Given the description of an element on the screen output the (x, y) to click on. 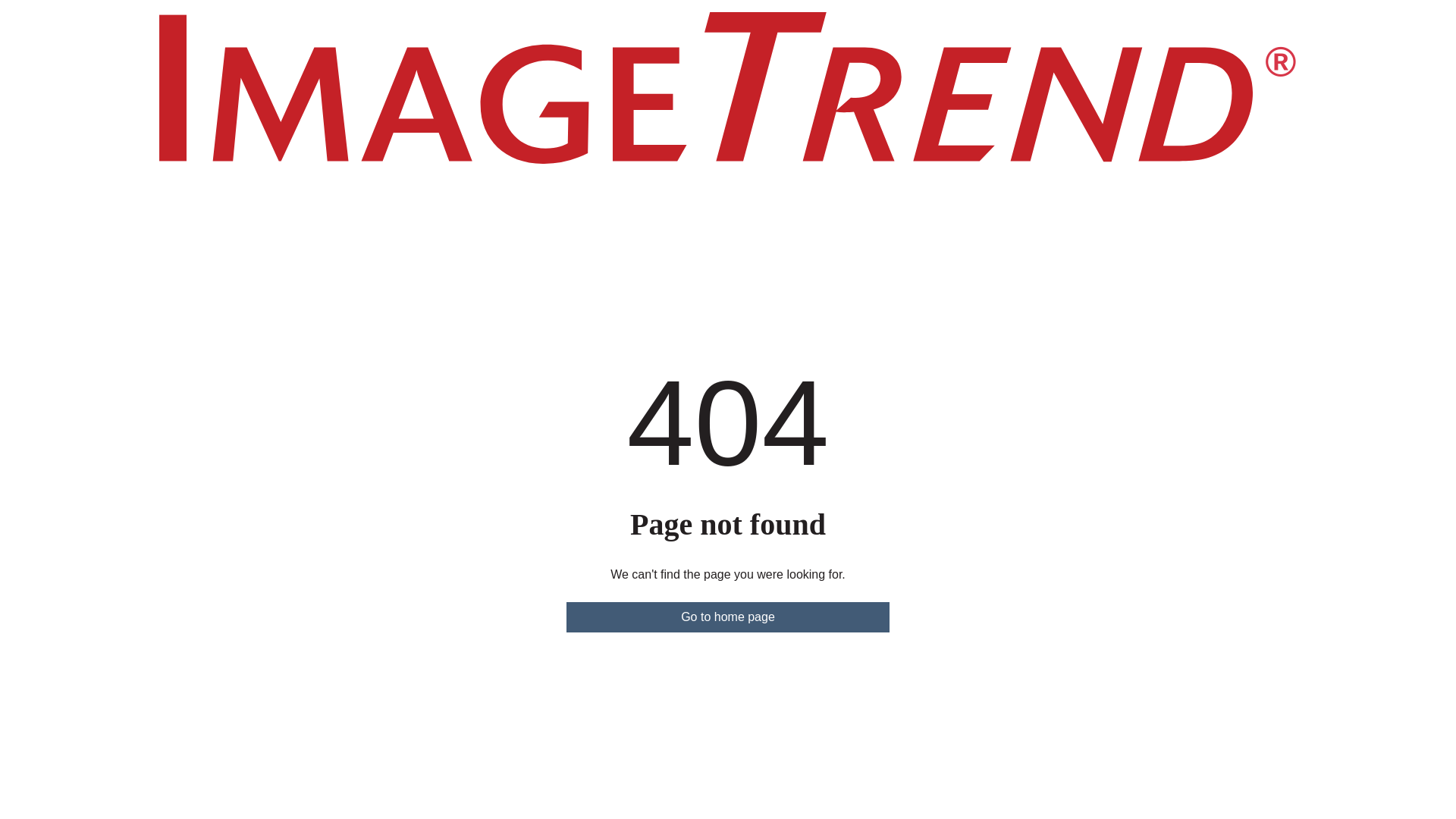
Go to home page (727, 616)
